Given the description of an element on the screen output the (x, y) to click on. 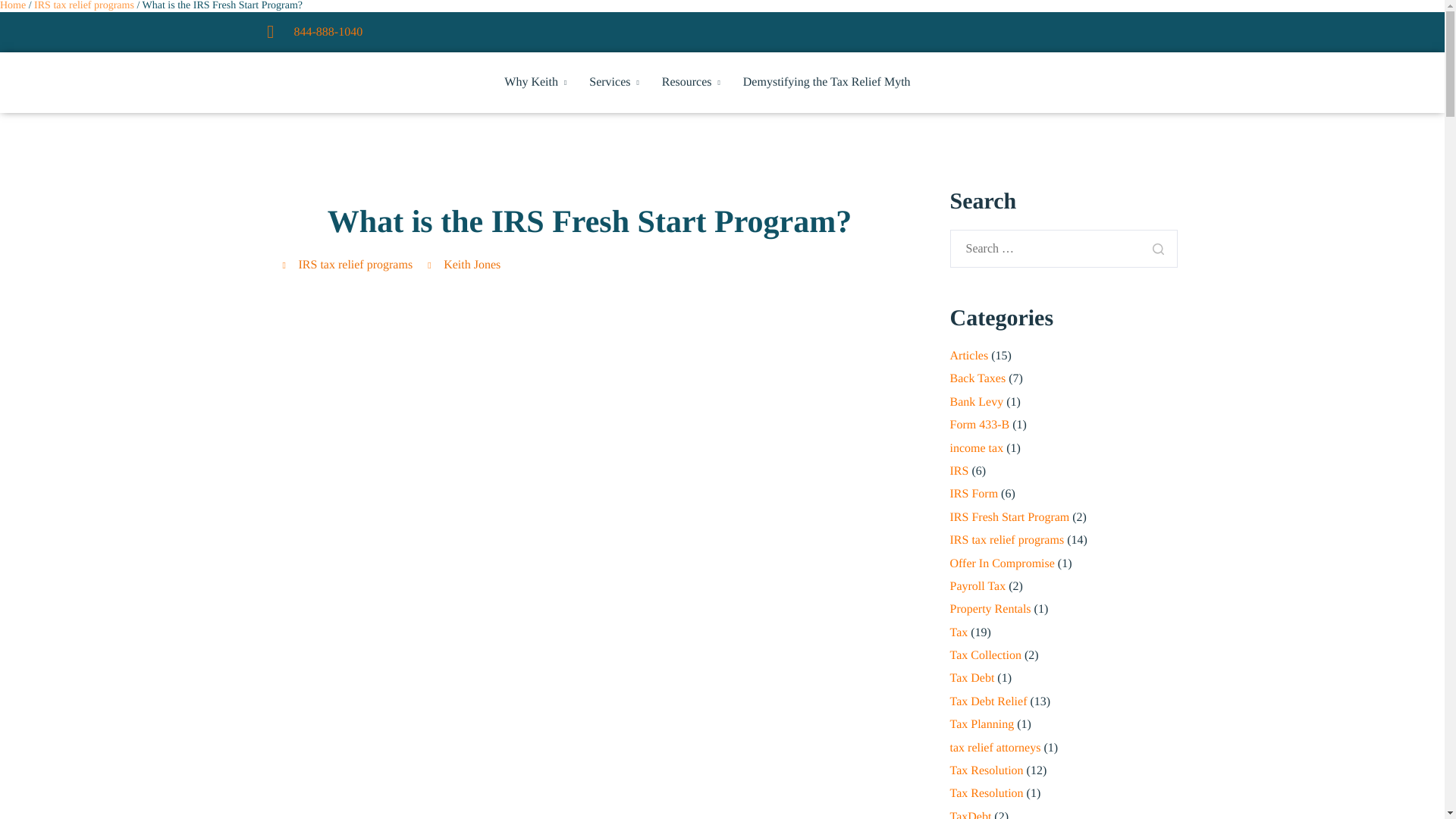
Home (13, 6)
Why Keith (534, 82)
Search (1157, 248)
Services (614, 82)
844-888-1040 (314, 32)
IRS tax relief programs (84, 6)
Resources (691, 82)
Demystifying the Tax Relief Myth (826, 82)
Search (1157, 248)
